Given the description of an element on the screen output the (x, y) to click on. 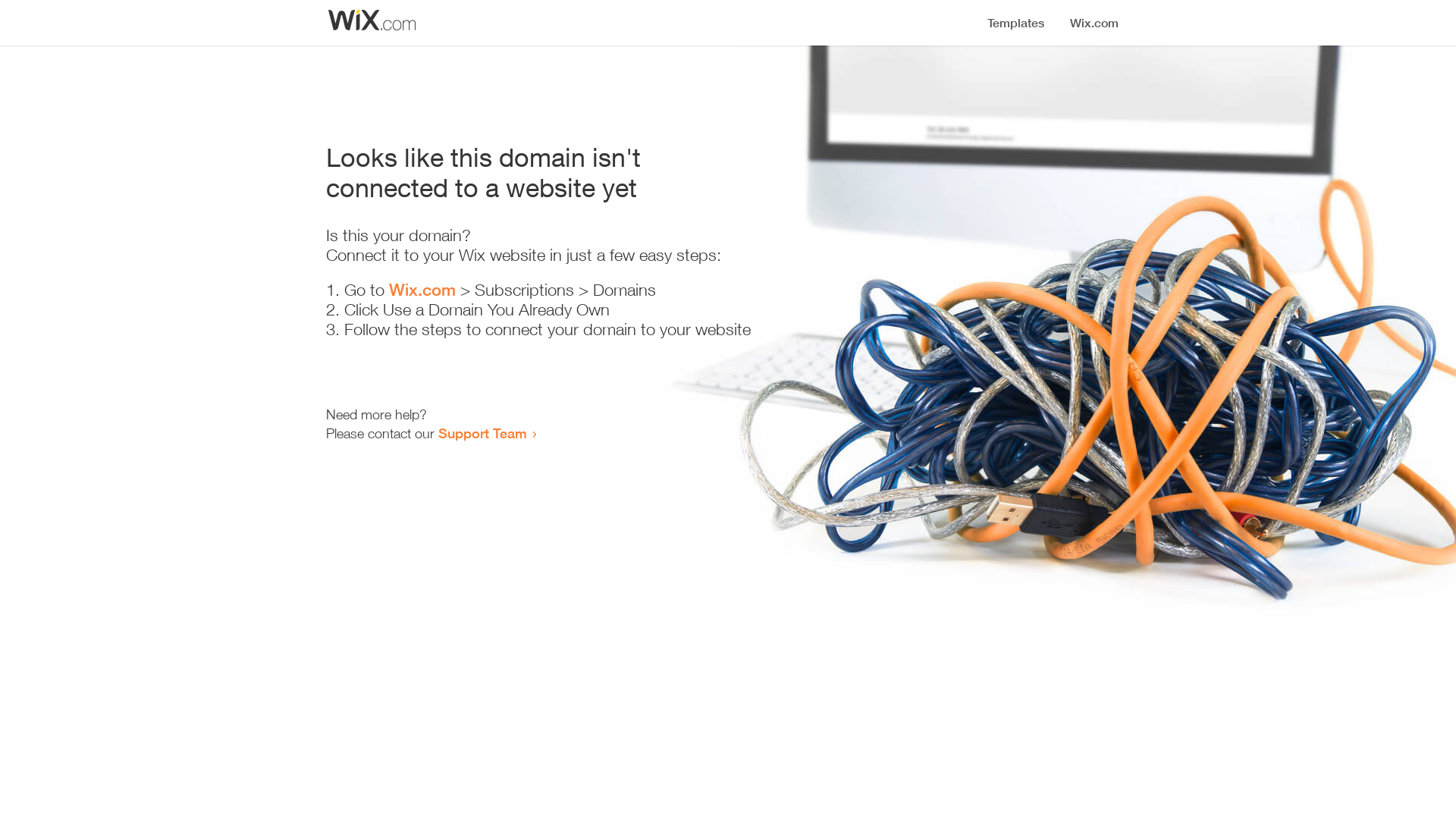
Support Team Element type: text (482, 432)
Wix.com Element type: text (422, 289)
